Given the description of an element on the screen output the (x, y) to click on. 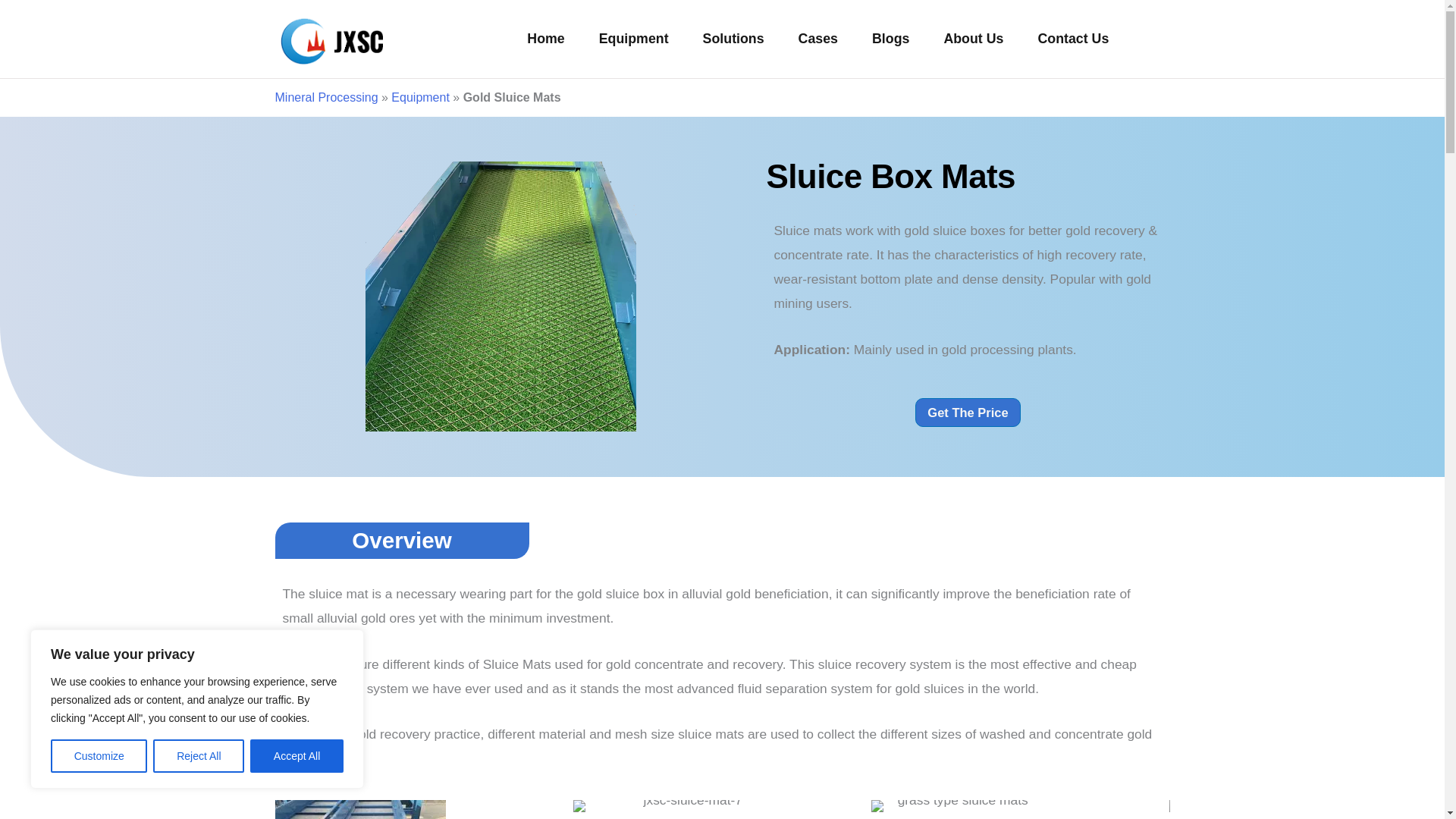
Accept All (296, 756)
Customize (98, 756)
Reject All (198, 756)
Home (545, 38)
Equipment (633, 38)
